Given the description of an element on the screen output the (x, y) to click on. 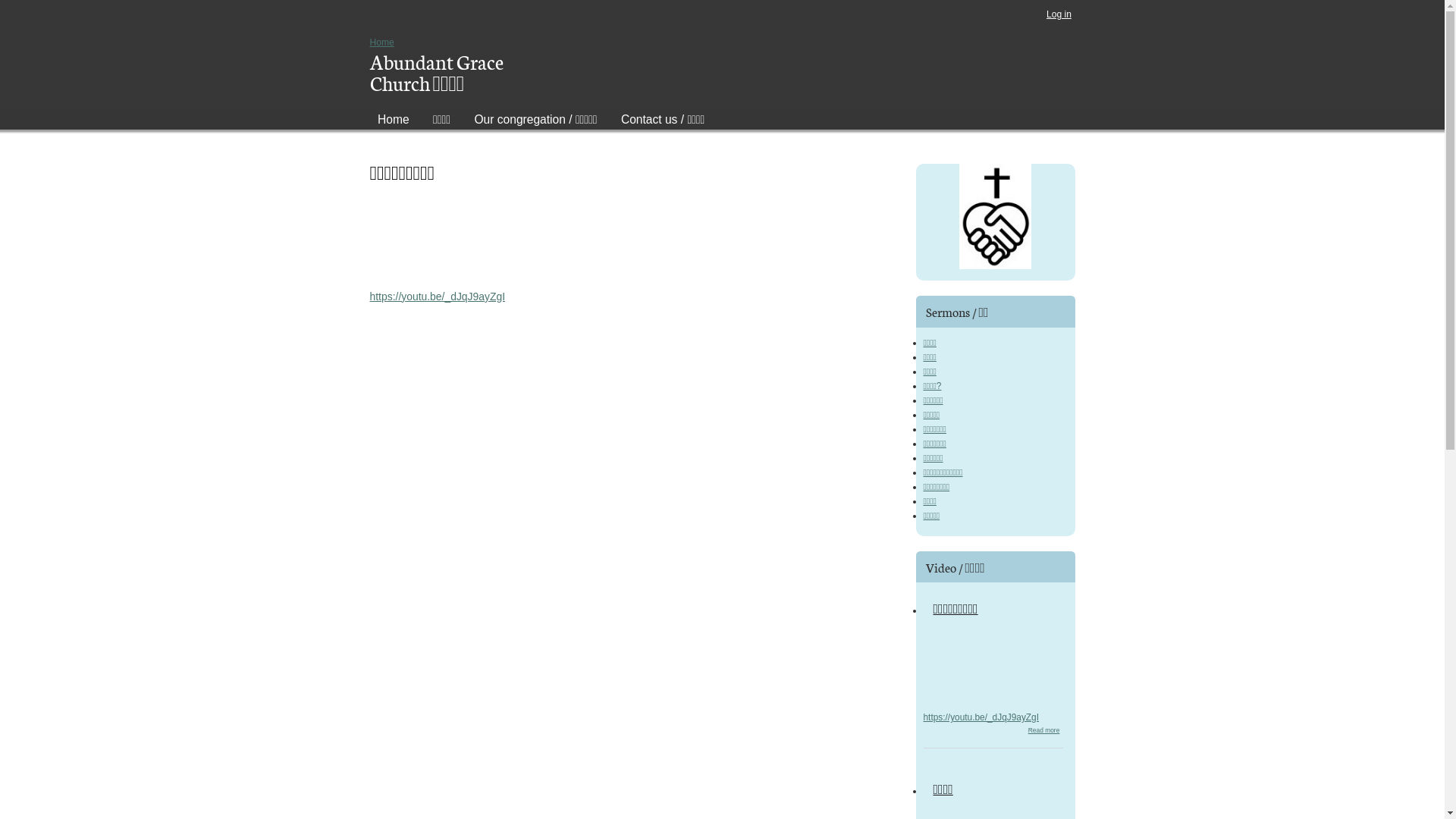
https://youtu.be/_dJqJ9ayZgI Element type: text (437, 296)
Home Element type: text (382, 42)
https://youtu.be/_dJqJ9ayZgI Element type: text (981, 717)
Log in Element type: text (1058, 14)
Home Element type: text (393, 116)
Skip to main content Element type: text (722, 1)
